Given the description of an element on the screen output the (x, y) to click on. 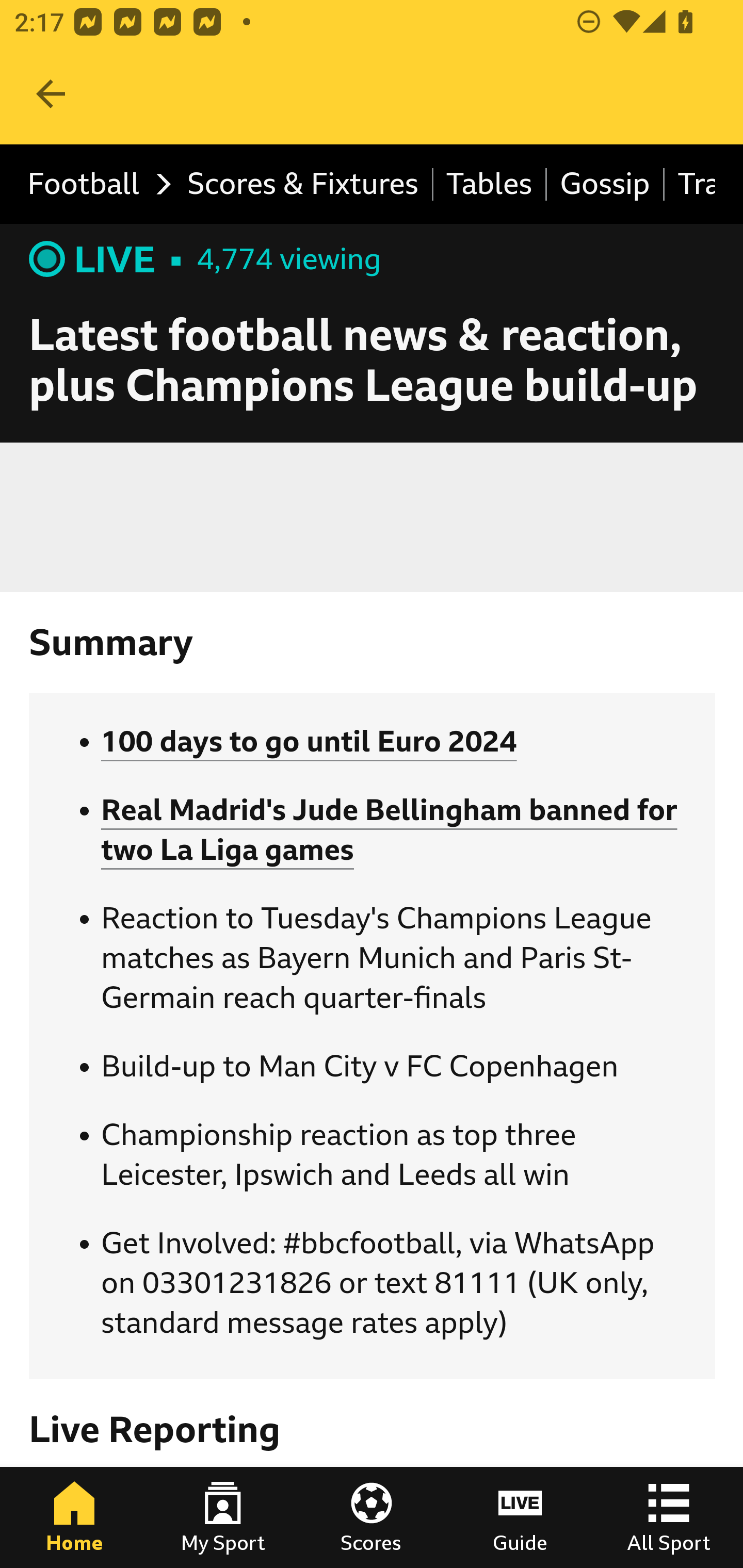
Navigate up (50, 93)
Football (94, 184)
Scores & Fixtures (303, 184)
Tables (490, 184)
Gossip (605, 184)
100 days to go until Euro 2024 (309, 742)
My Sport (222, 1517)
Scores (371, 1517)
Guide (519, 1517)
All Sport (668, 1517)
